Given the description of an element on the screen output the (x, y) to click on. 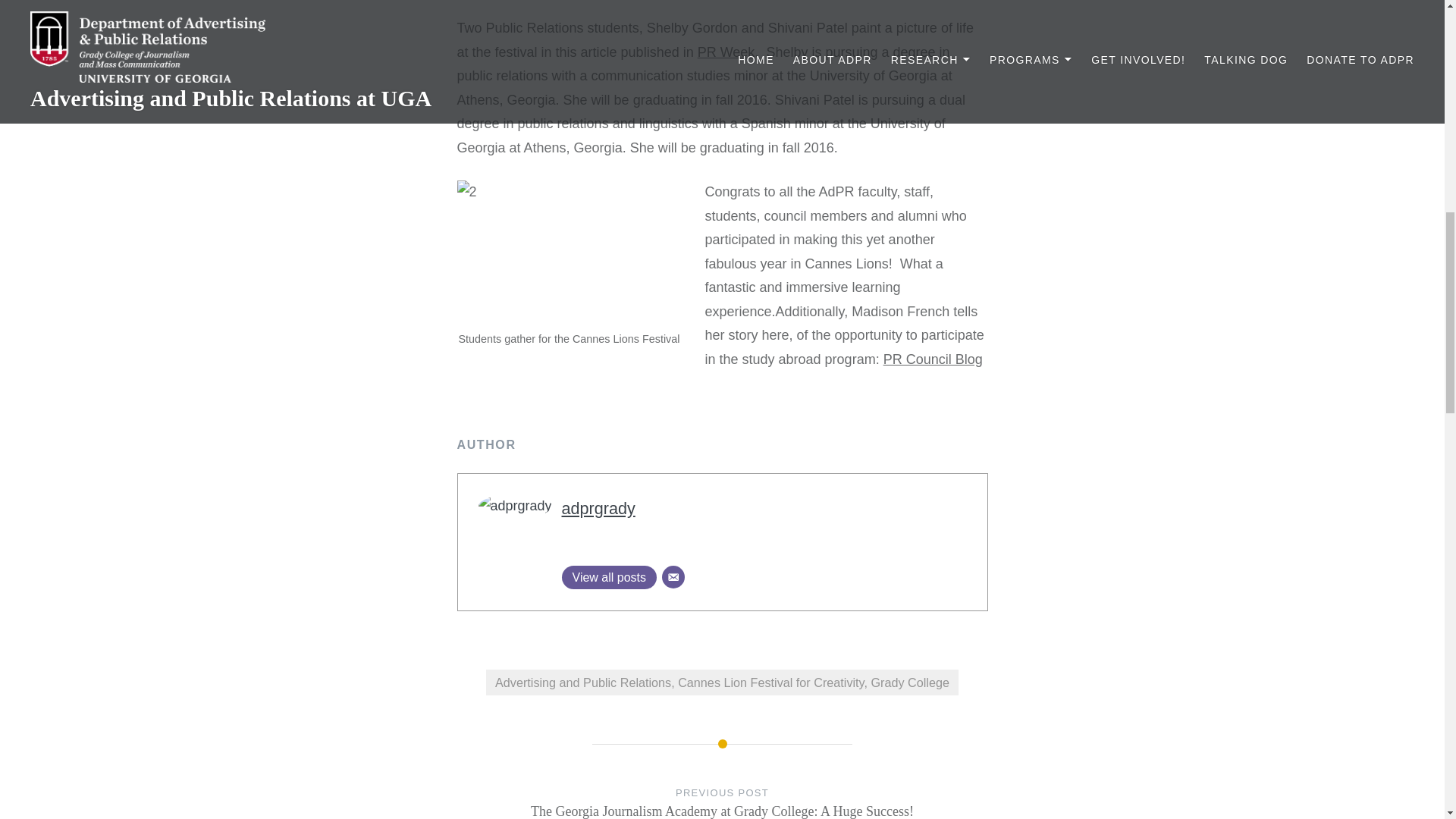
PR Week (726, 52)
View all posts (608, 576)
adprgrady (597, 507)
PR Council Blog (932, 359)
View all posts (608, 576)
adprgrady (597, 507)
